Given the description of an element on the screen output the (x, y) to click on. 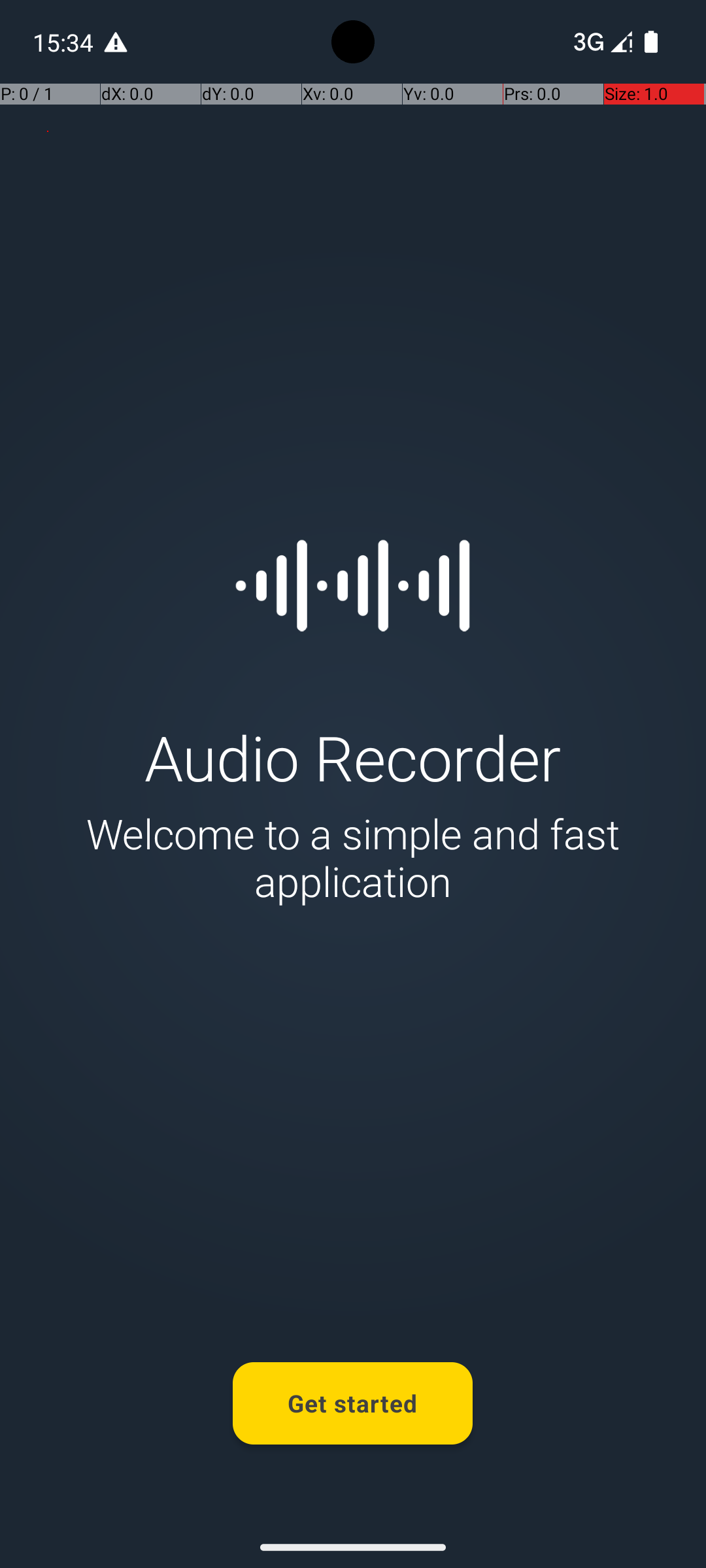
Get started Element type: android.widget.Button (352, 1403)
Audio Recorder Element type: android.widget.TextView (352, 756)
Welcome to a simple and fast application Element type: android.widget.TextView (352, 856)
